Given the description of an element on the screen output the (x, y) to click on. 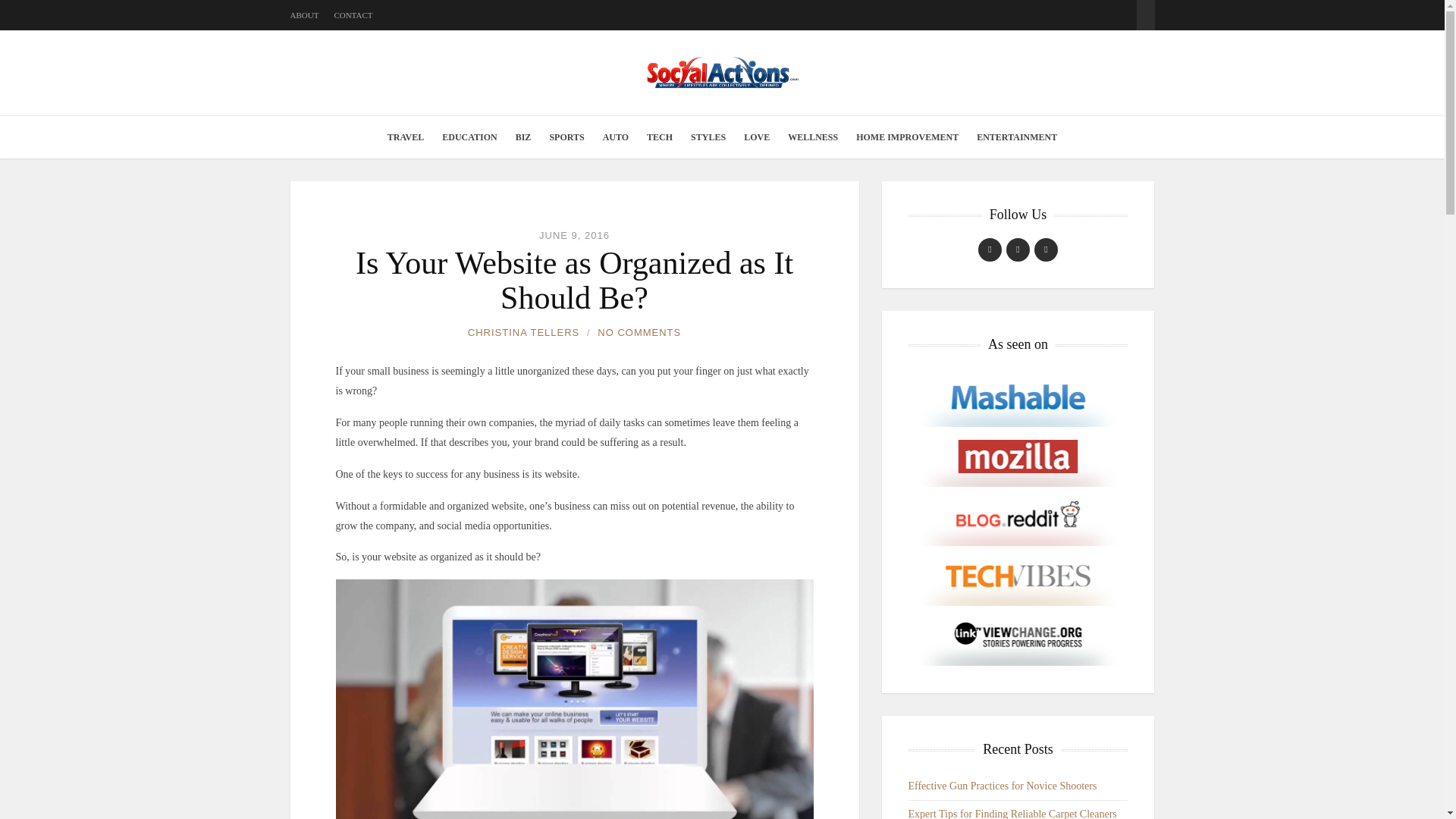
ENTERTAINMENT (1016, 137)
AUTO (615, 137)
Expert Tips for Finding Reliable Carpet Cleaners (1012, 813)
ABOUT (303, 15)
Search (1144, 7)
Effective Gun Practices for Novice Shooters (1002, 785)
Facebook (989, 249)
LOVE (756, 137)
BIZ (523, 137)
CONTACT (352, 15)
STYLES (708, 137)
TRAVEL (405, 137)
HOME IMPROVEMENT (907, 137)
TECH (659, 137)
EDUCATION (468, 137)
